Given the description of an element on the screen output the (x, y) to click on. 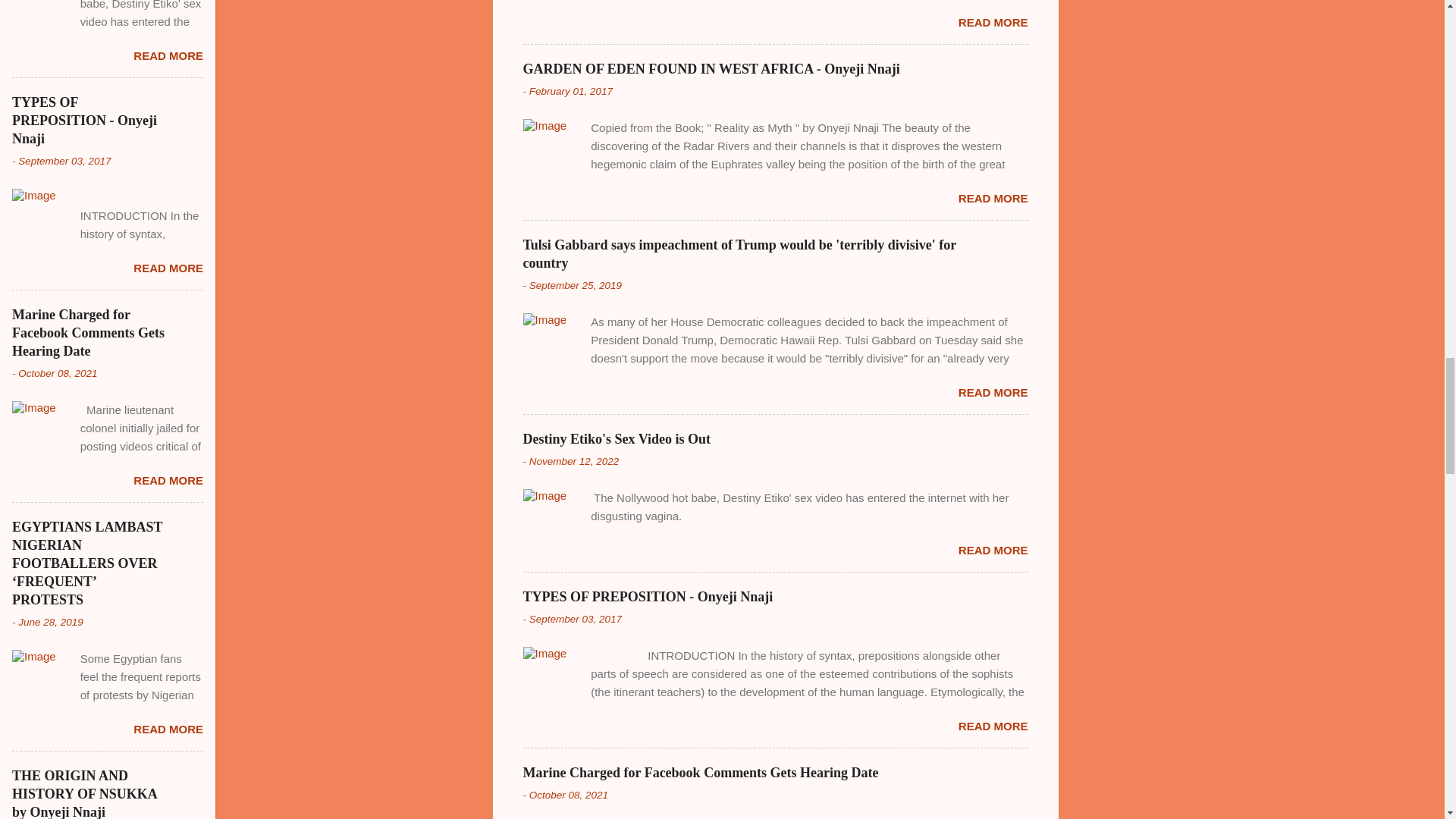
READ MORE (992, 21)
GARDEN OF EDEN FOUND IN WEST AFRICA - Onyeji Nnaji (710, 68)
February 01, 2017 (570, 91)
READ MORE (992, 197)
September 25, 2019 (575, 285)
